Given the description of an element on the screen output the (x, y) to click on. 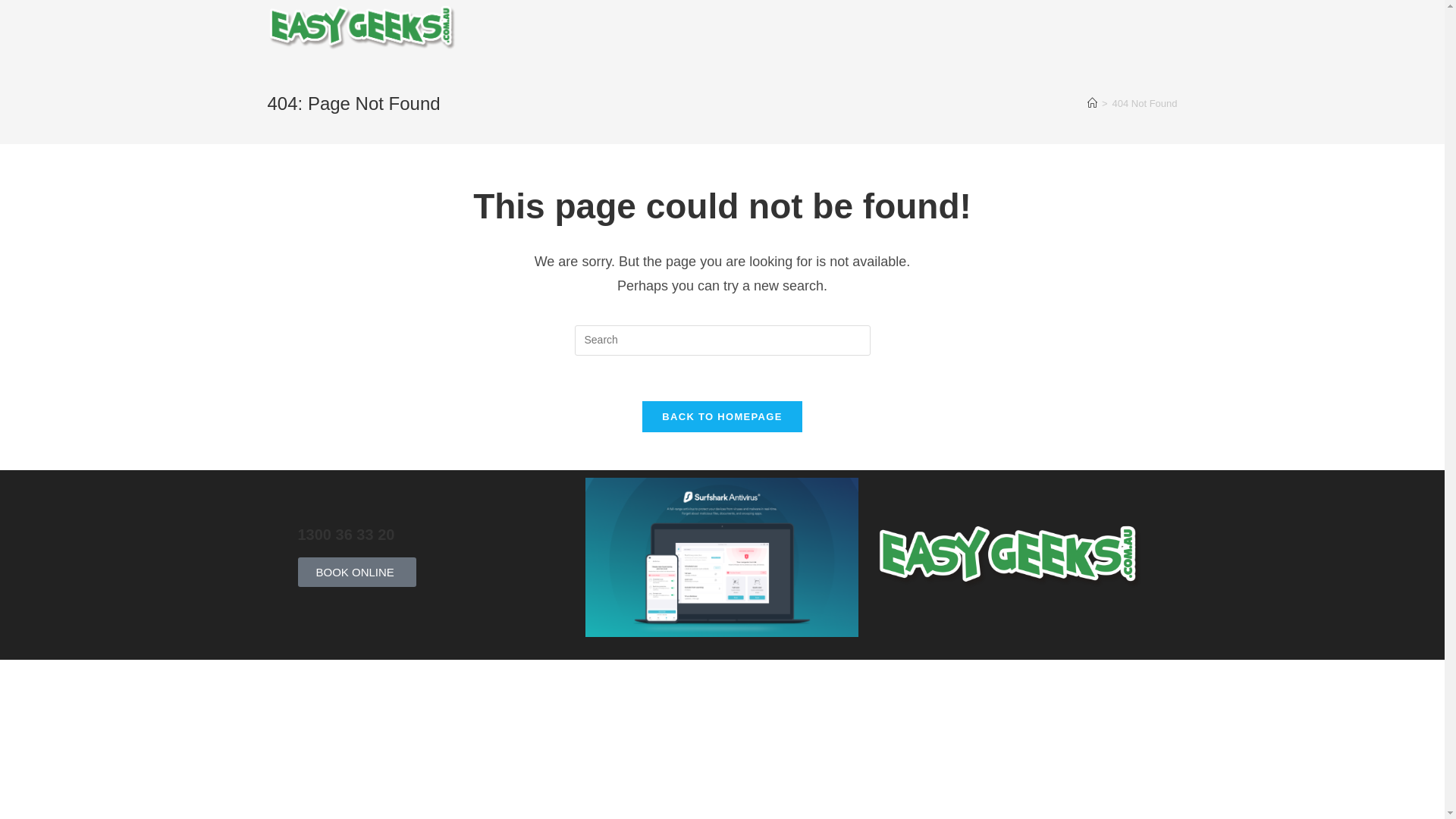
BACK TO HOMEPAGE Element type: text (721, 416)
1300 36 33 20 Element type: text (345, 534)
BOOK ONLINE Element type: text (356, 571)
